Given the description of an element on the screen output the (x, y) to click on. 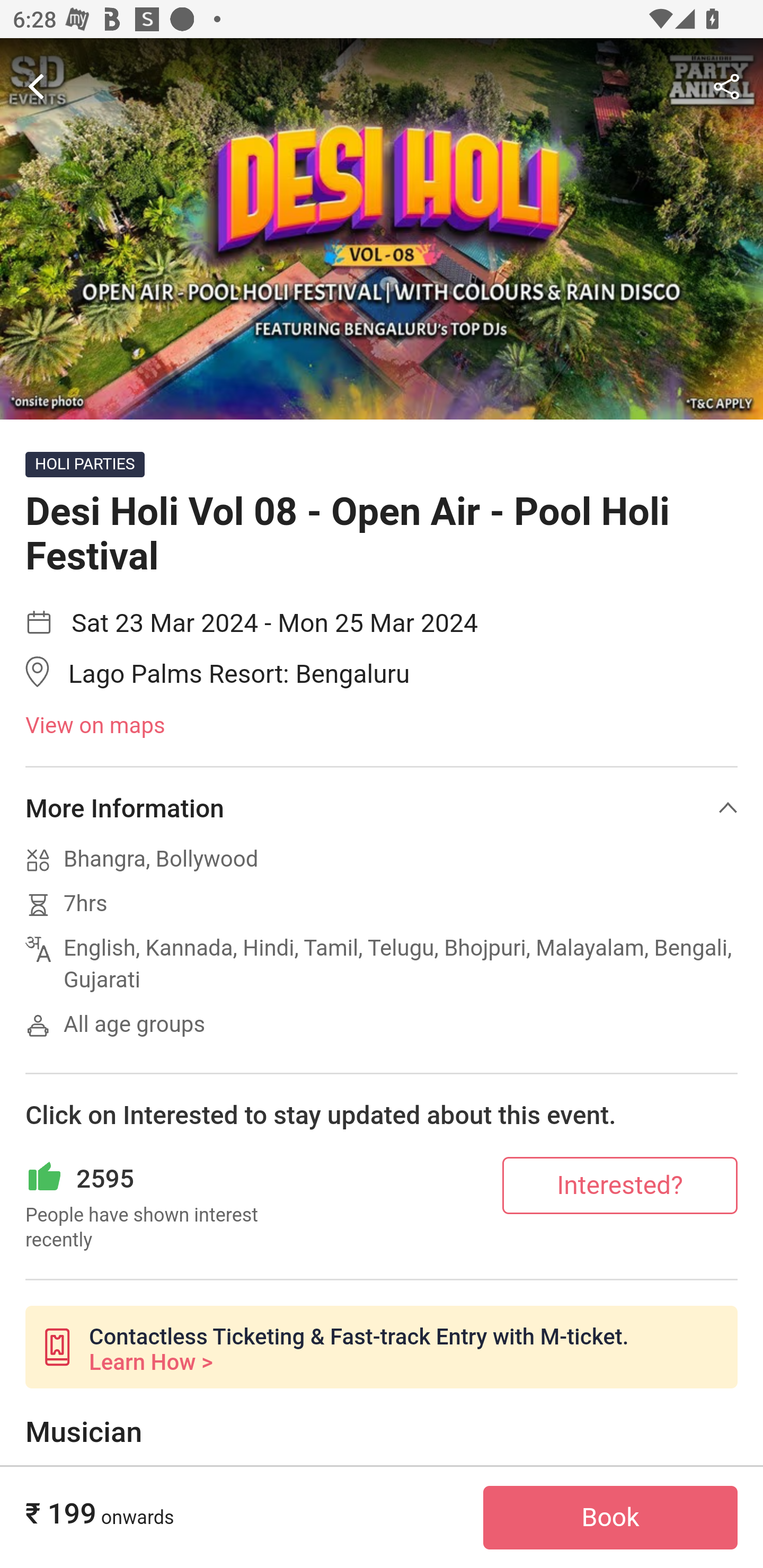
View on maps (381, 725)
More Information (381, 807)
Interested? (619, 1184)
Learn How > (150, 1362)
Book (609, 1517)
